Given the description of an element on the screen output the (x, y) to click on. 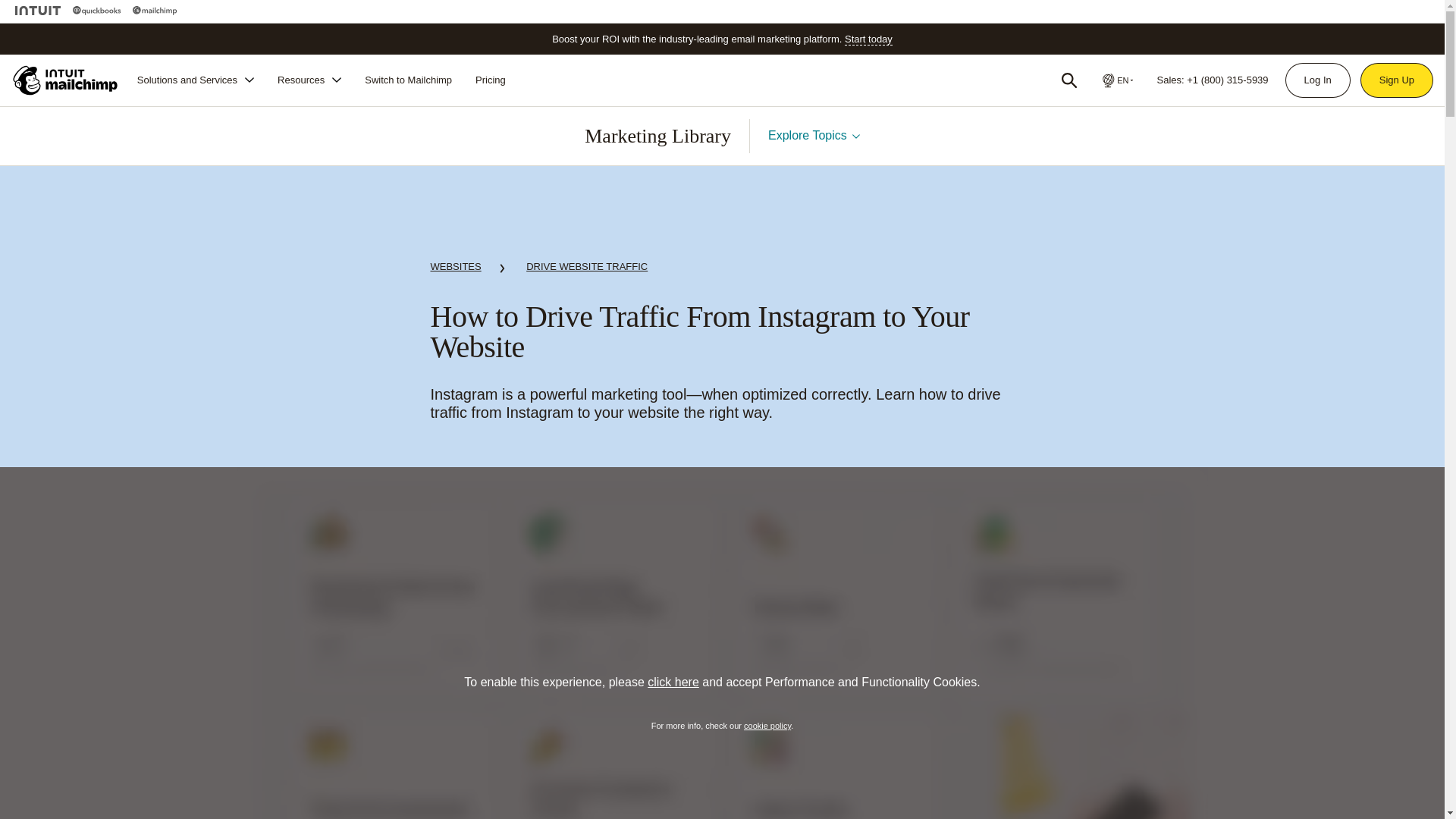
Switch to Mailchimp (408, 79)
Log In (1317, 80)
Search (1069, 80)
Explore Topics (814, 135)
Sign Up (1396, 80)
Pricing (490, 79)
WEBSITES (455, 269)
Resources (308, 79)
Solutions and Services (195, 79)
Start today (868, 39)
Marketing Library (657, 136)
